Given the description of an element on the screen output the (x, y) to click on. 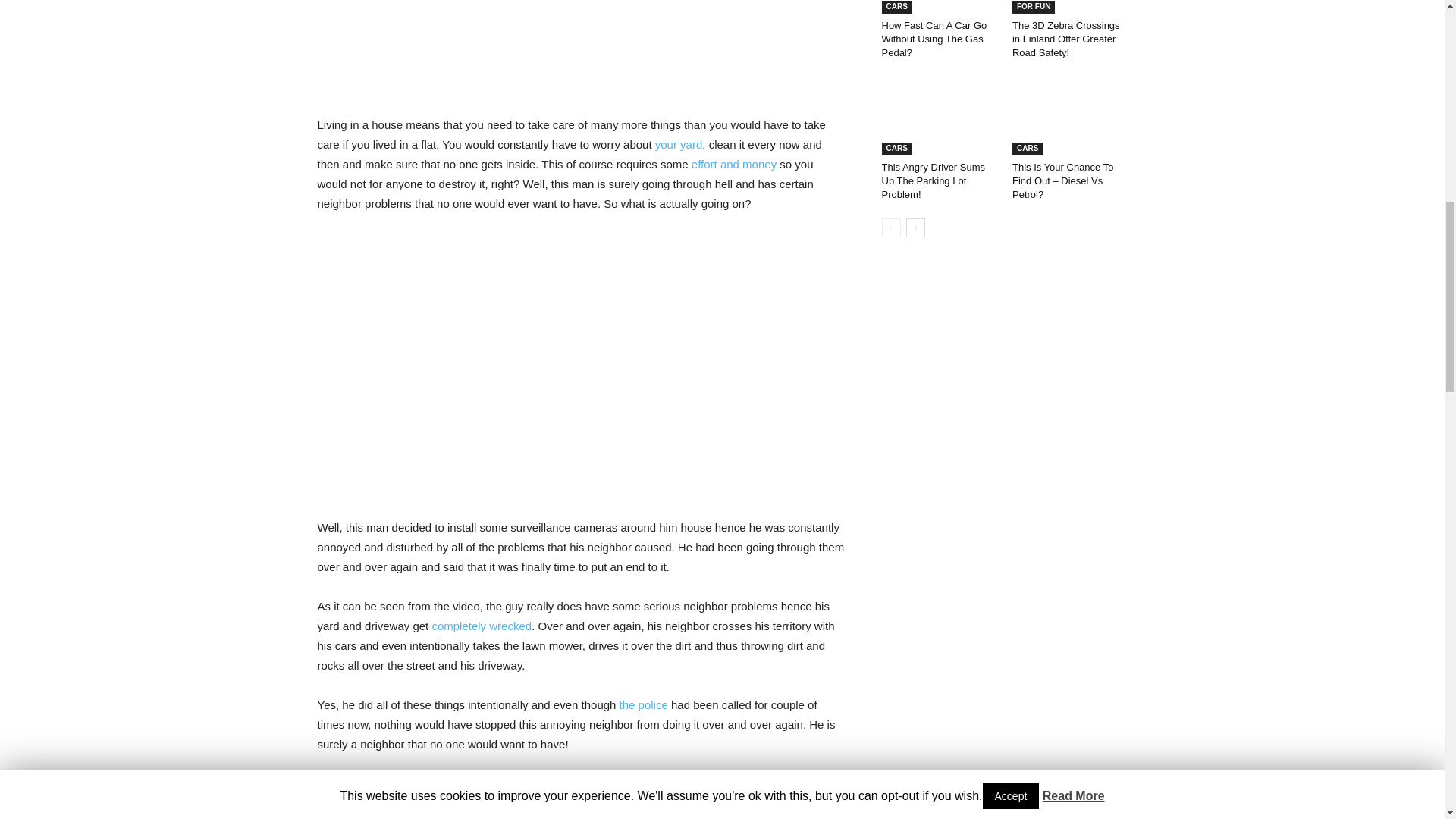
Advertisement (580, 49)
